Given the description of an element on the screen output the (x, y) to click on. 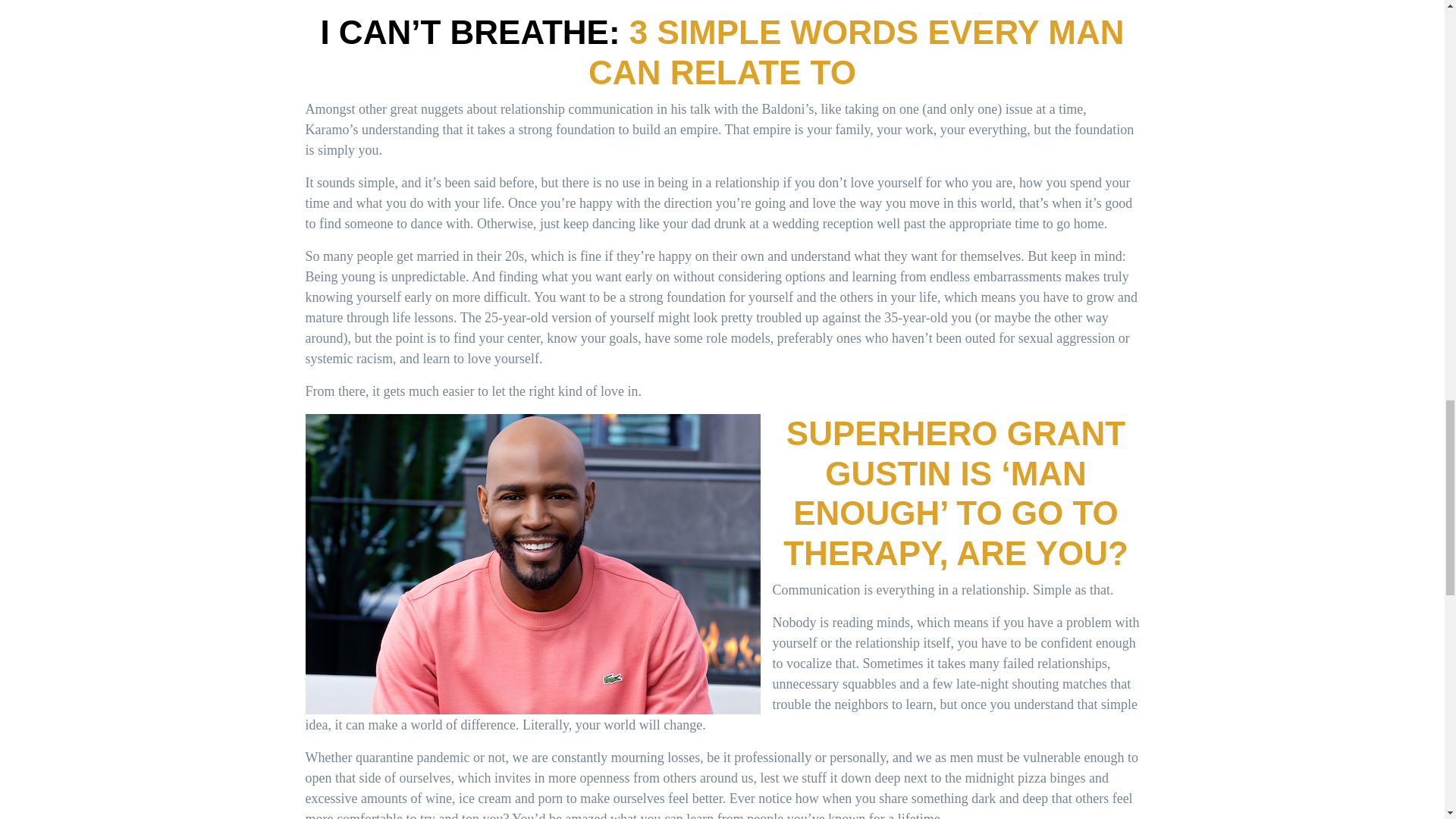
3 SIMPLE WORDS EVERY MAN CAN RELATE TO (856, 51)
